Given the description of an element on the screen output the (x, y) to click on. 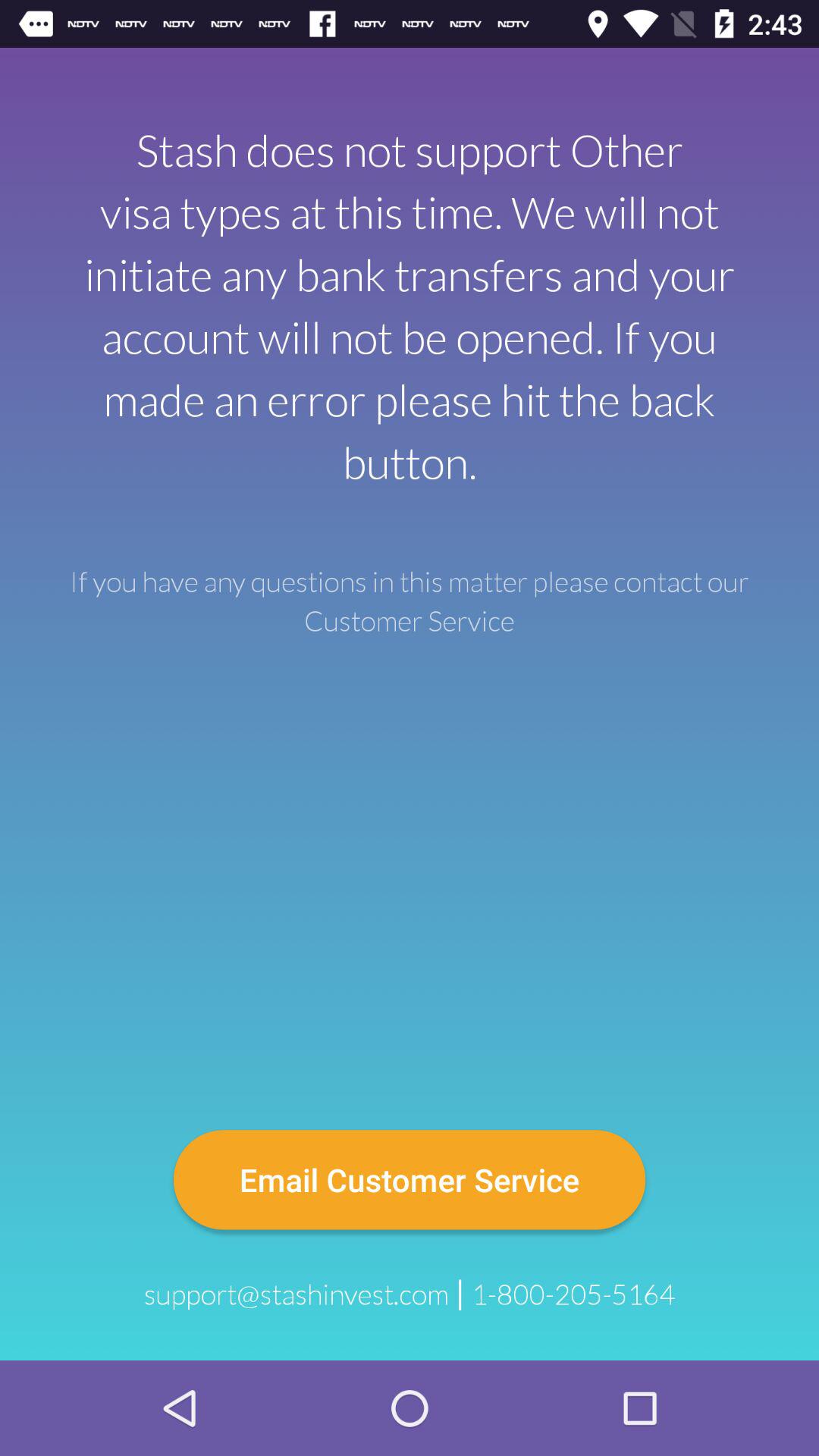
press the support@stashinvest.com icon (295, 1294)
